Given the description of an element on the screen output the (x, y) to click on. 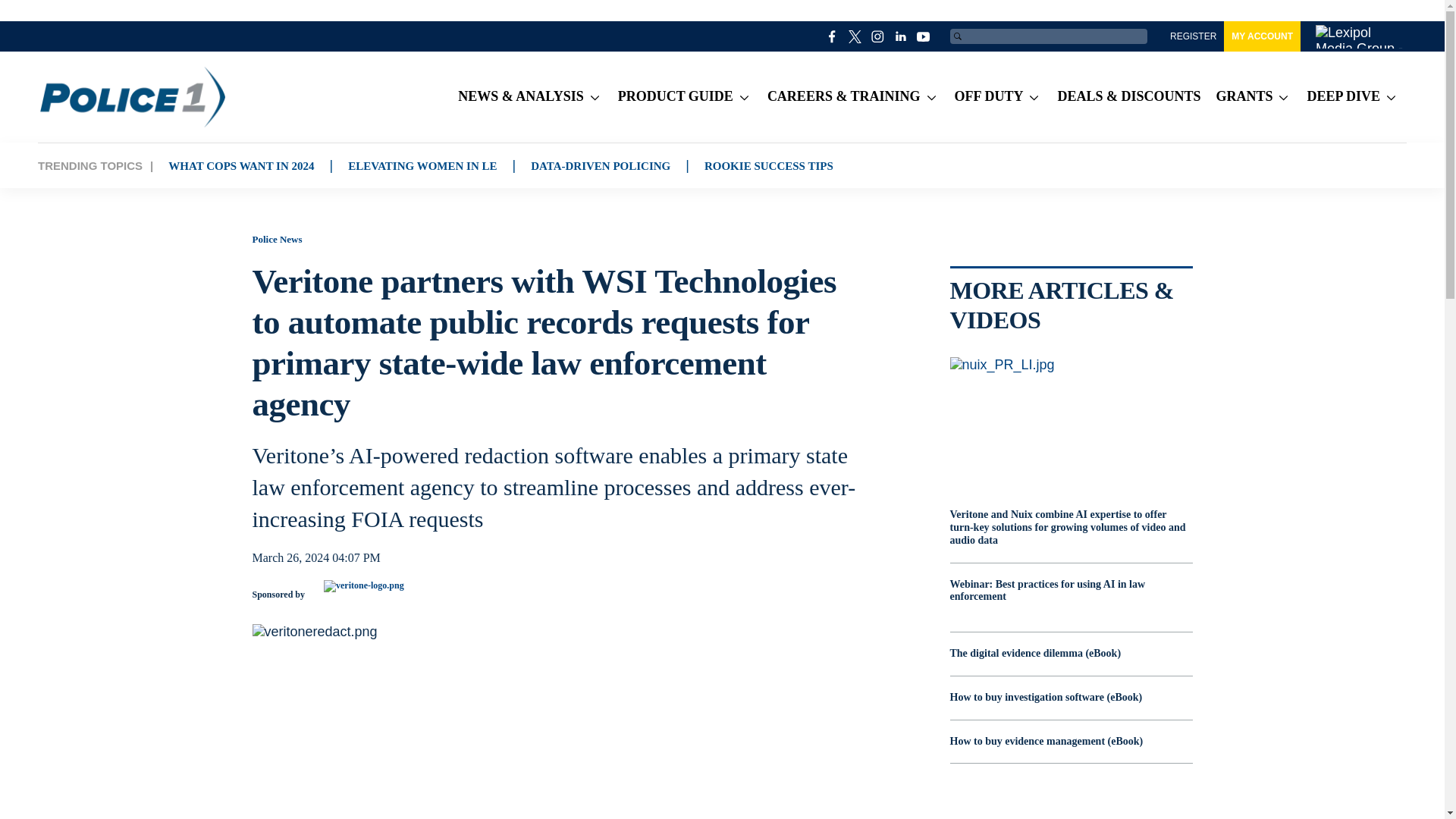
REGISTER (1192, 36)
facebook (832, 36)
MY ACCOUNT (1262, 36)
youtube (923, 36)
instagram (877, 36)
linkedin (900, 36)
twitter (855, 36)
